Given the description of an element on the screen output the (x, y) to click on. 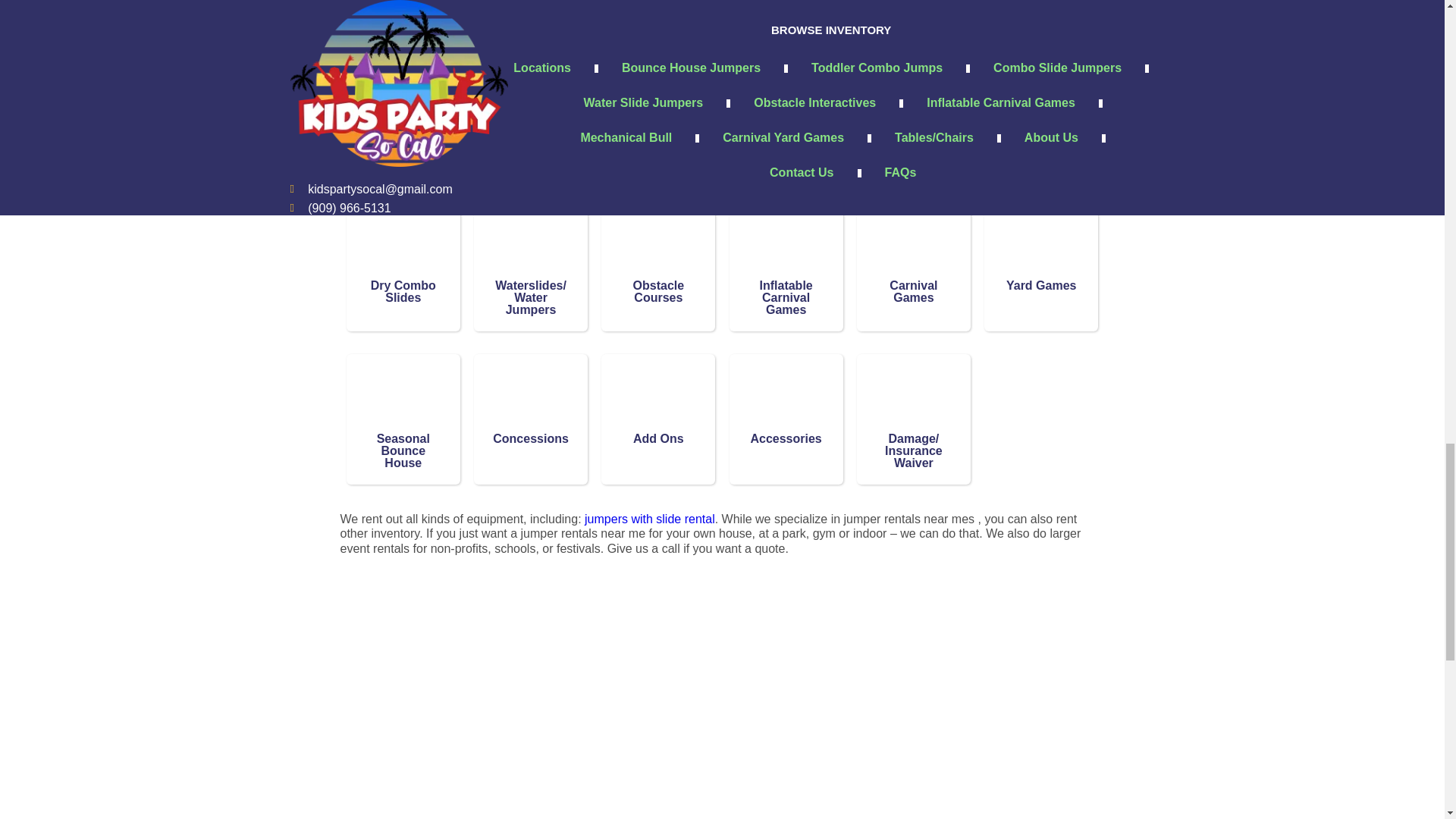
Seasonal Bounce House (402, 399)
Accessories  (785, 399)
Inflatable Carnival Games (785, 246)
Obstacle Courses (657, 246)
Canopy Pop Up  (530, 93)
Dry Combo Slides  (402, 246)
Yard Games (1040, 246)
Concessions  (530, 399)
Carnival Games (913, 246)
Bounce House (1040, 93)
Toddler Junior Bounce  (913, 93)
Dance Dome Bounce (785, 93)
Add Ons (657, 399)
Mechanical Rodeo Bull (657, 93)
